Given the description of an element on the screen output the (x, y) to click on. 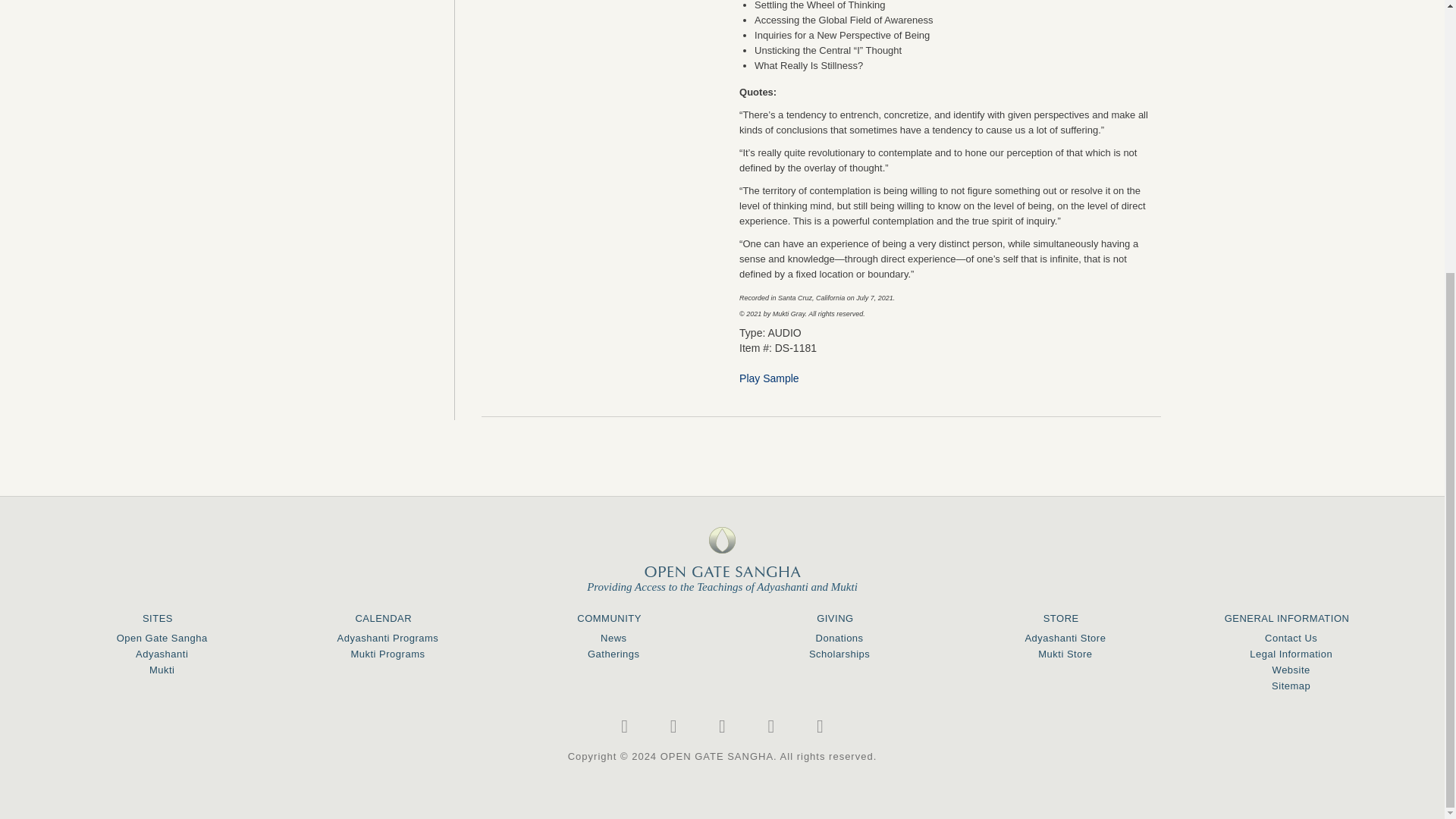
open gate sangha (722, 552)
